Given the description of an element on the screen output the (x, y) to click on. 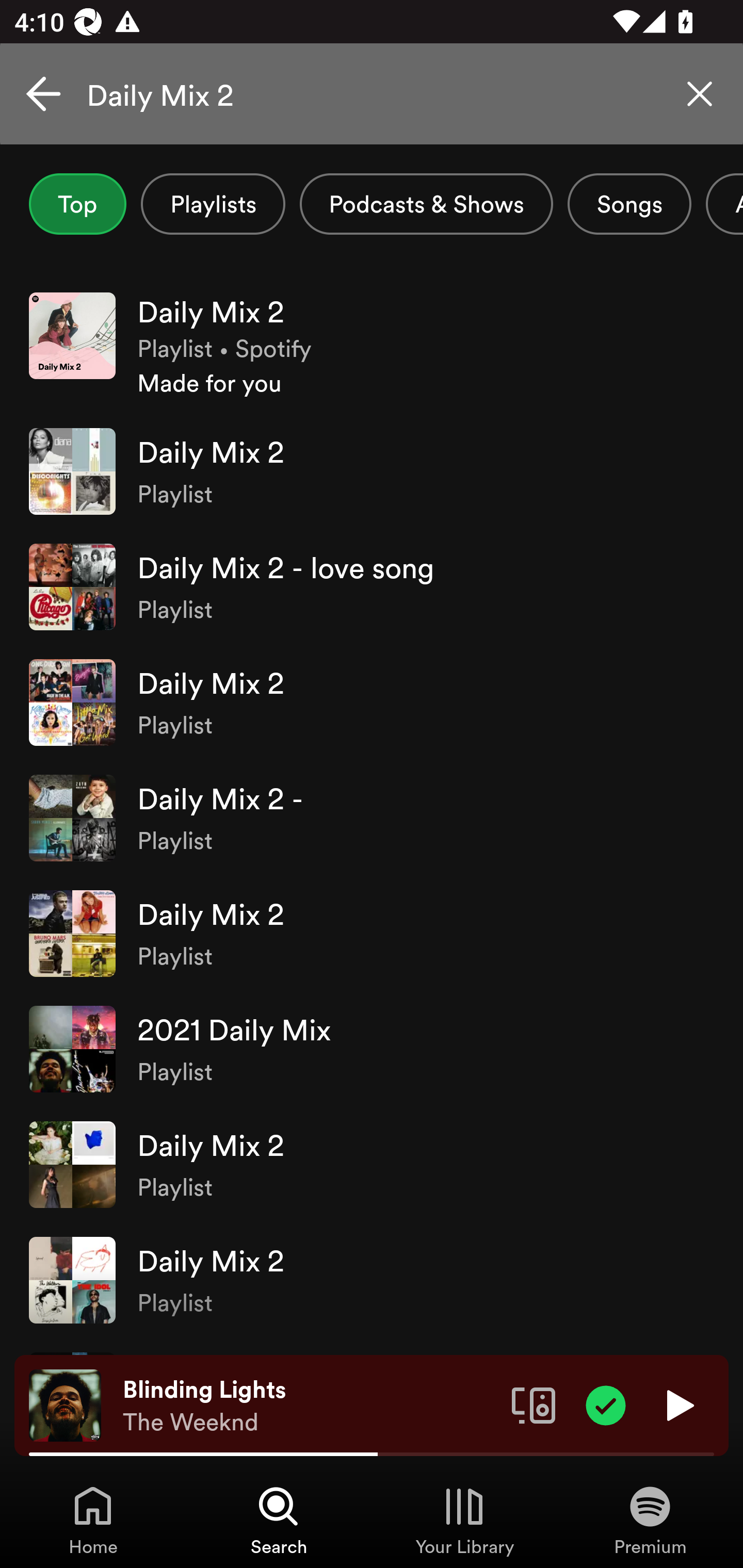
Daily Mix 2 (371, 93)
Cancel (43, 93)
Clear search query (699, 93)
Top (77, 203)
Playlists (213, 203)
Podcasts & Shows (425, 203)
Songs (629, 203)
Daily Mix 2 Playlist • Spotify Made for you (371, 345)
Daily Mix 2 Playlist (371, 471)
Daily Mix 2 - love song Playlist (371, 586)
Daily Mix 2  Playlist (371, 702)
Daily Mix 2 - Playlist (371, 818)
Daily Mix 2 Playlist (371, 933)
2021 Daily Mix Playlist (371, 1048)
Daily Mix 2 Playlist (371, 1165)
Daily Mix 2 Playlist (371, 1280)
Blinding Lights The Weeknd (309, 1405)
The cover art of the currently playing track (64, 1404)
Connect to a device. Opens the devices menu (533, 1404)
Item added (605, 1404)
Play (677, 1404)
Home, Tab 1 of 4 Home Home (92, 1519)
Search, Tab 2 of 4 Search Search (278, 1519)
Your Library, Tab 3 of 4 Your Library Your Library (464, 1519)
Premium, Tab 4 of 4 Premium Premium (650, 1519)
